Given the description of an element on the screen output the (x, y) to click on. 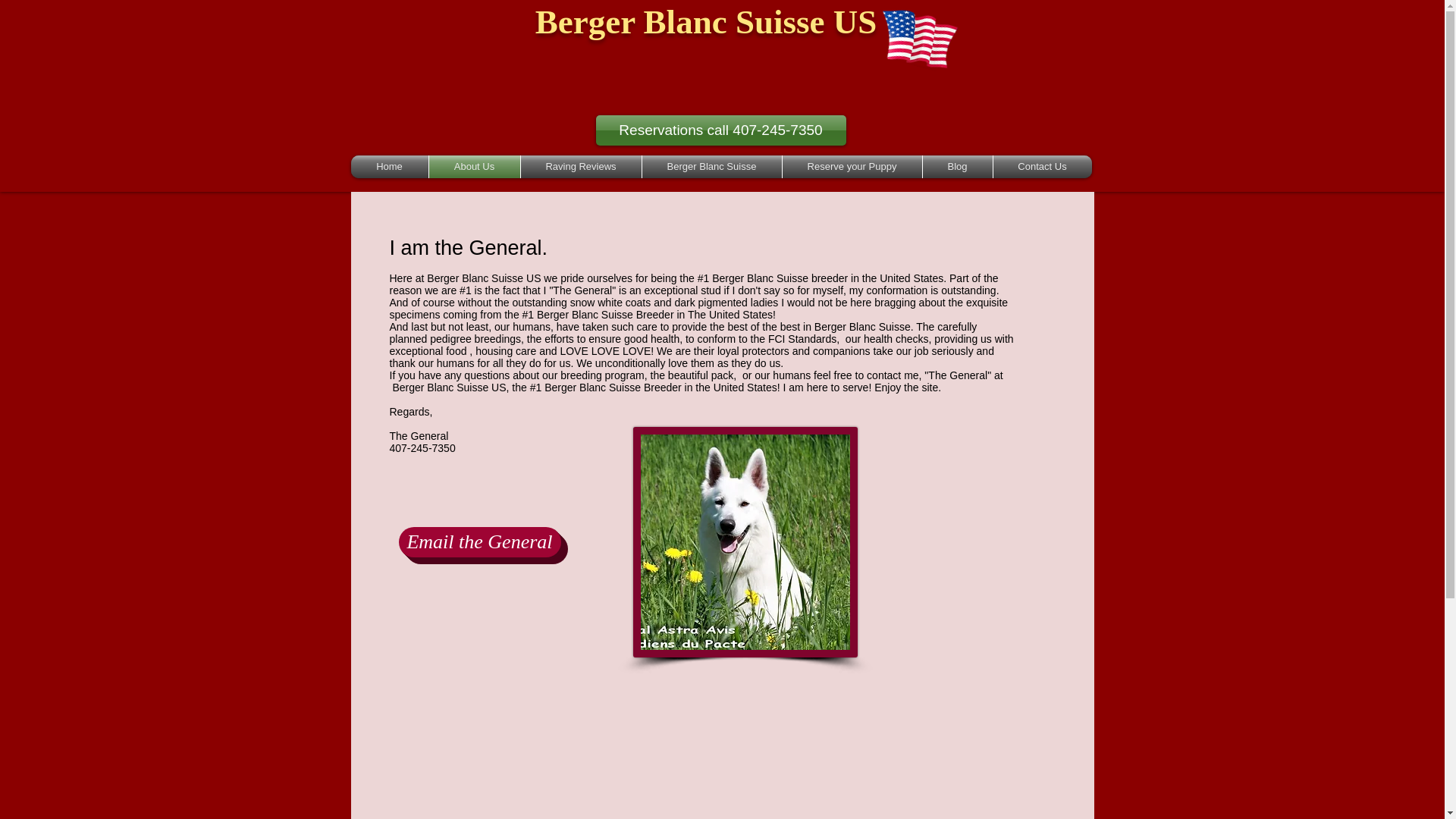
Contact Us (1042, 166)
About Us (474, 166)
Reserve your Puppy (852, 166)
the general.jpg (744, 541)
Raving Reviews (579, 166)
Email the General (479, 542)
Berger Blanc Suisse (711, 166)
Home (389, 166)
Reservations call 407-245-7350 (720, 130)
Berger Blanc Suisse US (705, 21)
